Given the description of an element on the screen output the (x, y) to click on. 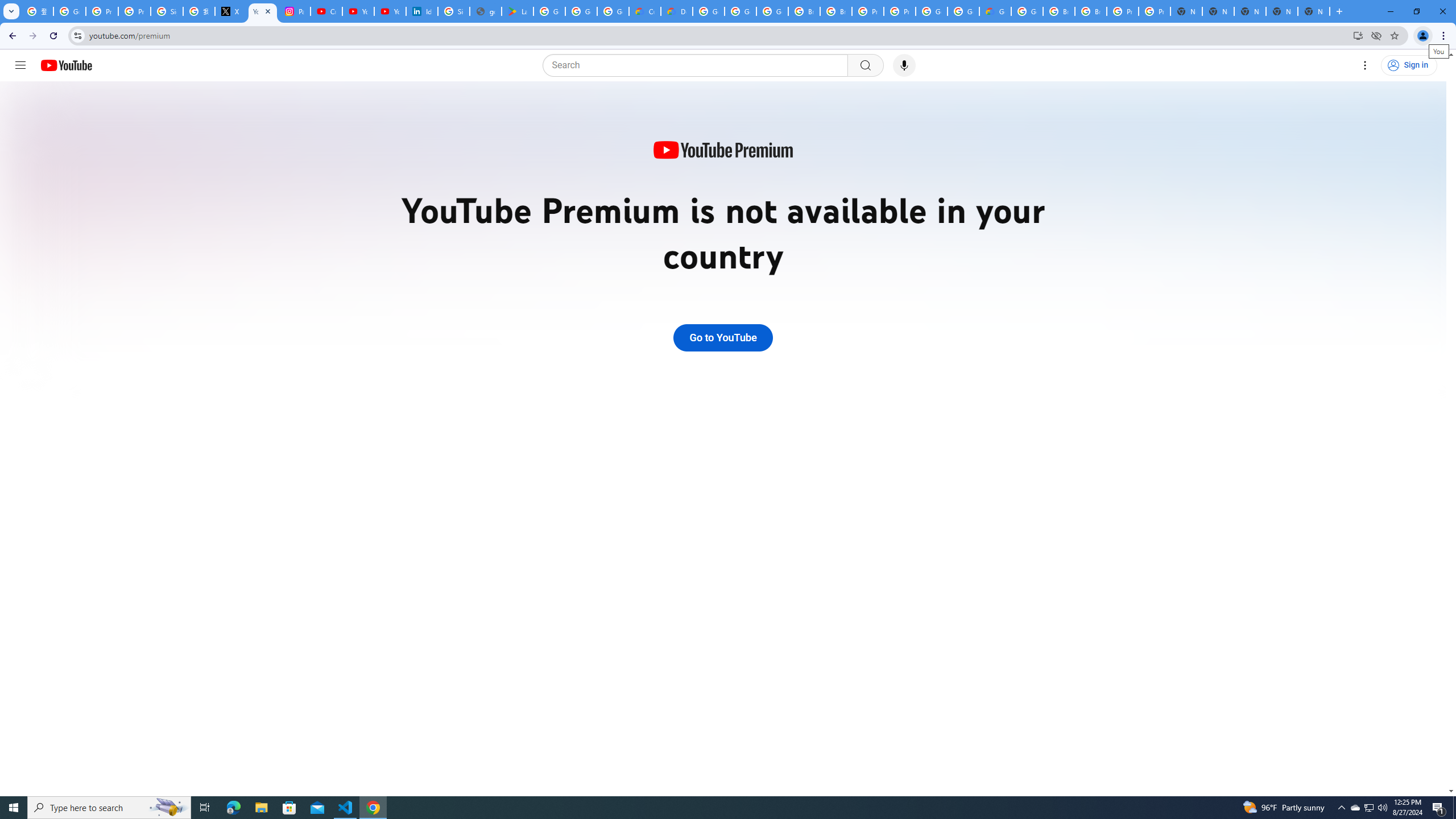
Google Cloud Platform (708, 11)
Google Workspace - Specific Terms (581, 11)
YouTube Premium logo (722, 151)
Search with your voice (903, 65)
Privacy Help Center - Policies Help (134, 11)
